Given the description of an element on the screen output the (x, y) to click on. 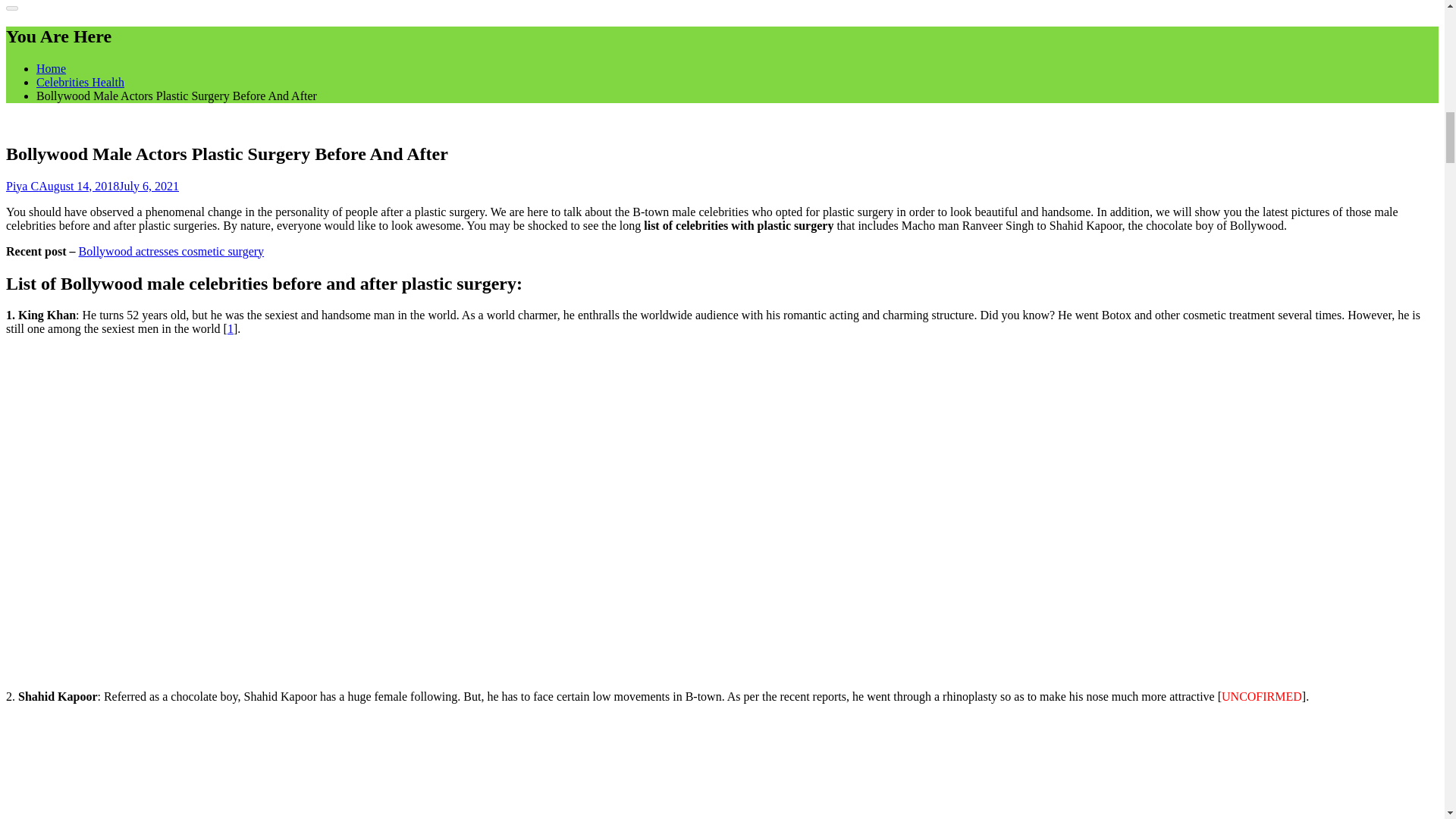
Bollywood Male Actors Plastic Surgery Before And After 2 (197, 767)
